Given the description of an element on the screen output the (x, y) to click on. 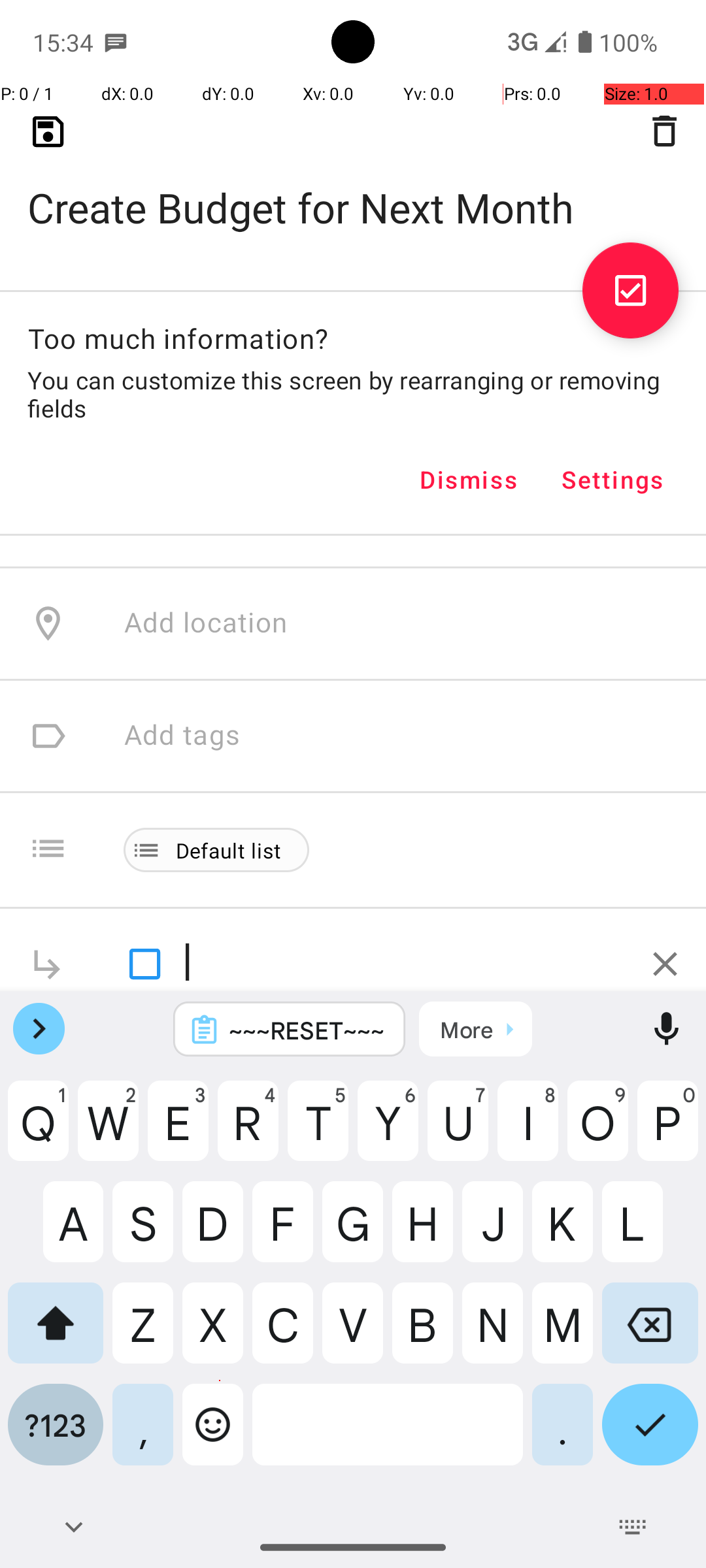
Create Budget for Next Month Element type: android.widget.EditText (353, 186)
